Given the description of an element on the screen output the (x, y) to click on. 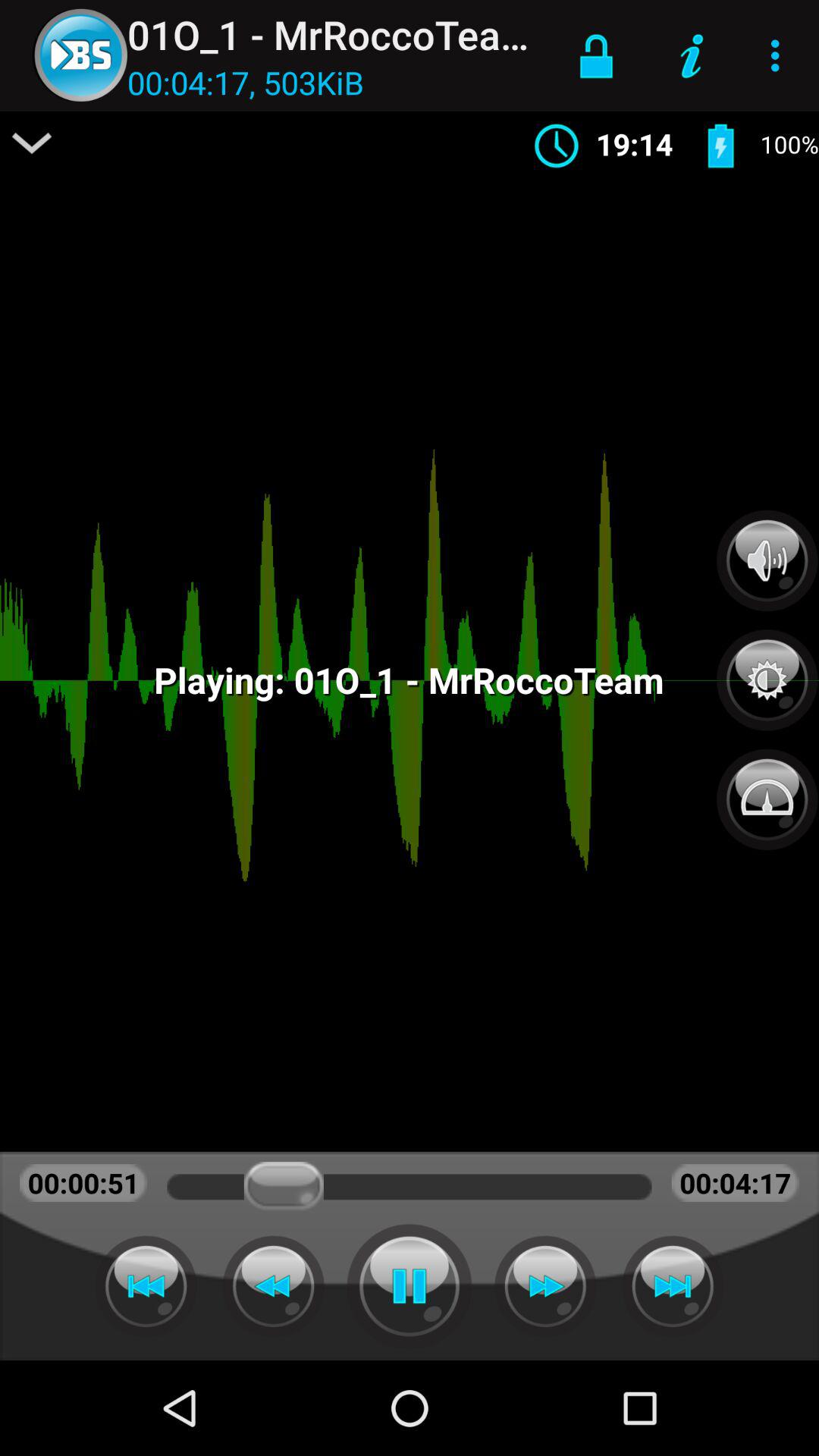
volume (767, 560)
